Given the description of an element on the screen output the (x, y) to click on. 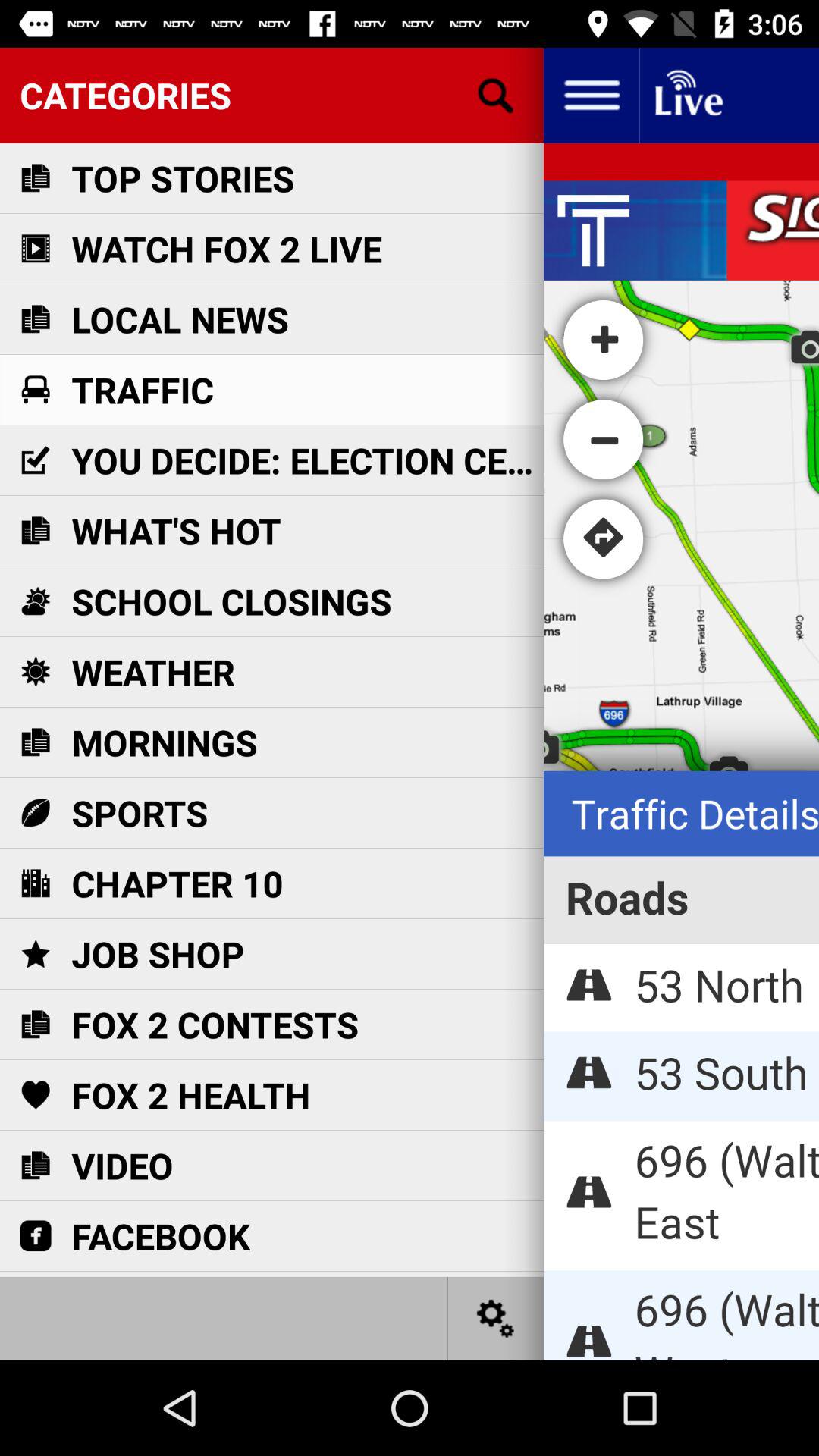
setting button (495, 1318)
